Given the description of an element on the screen output the (x, y) to click on. 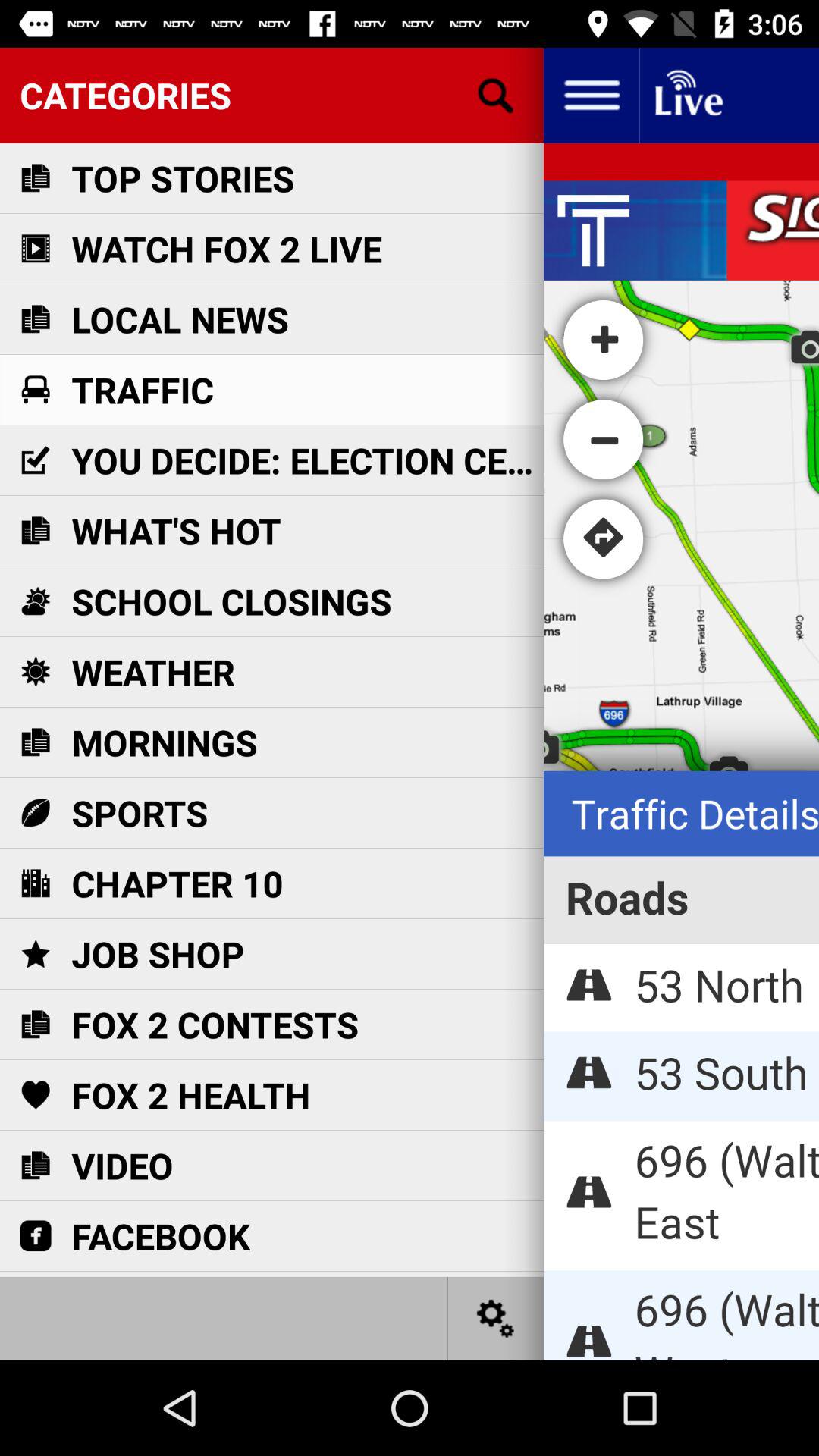
setting button (495, 1318)
